Given the description of an element on the screen output the (x, y) to click on. 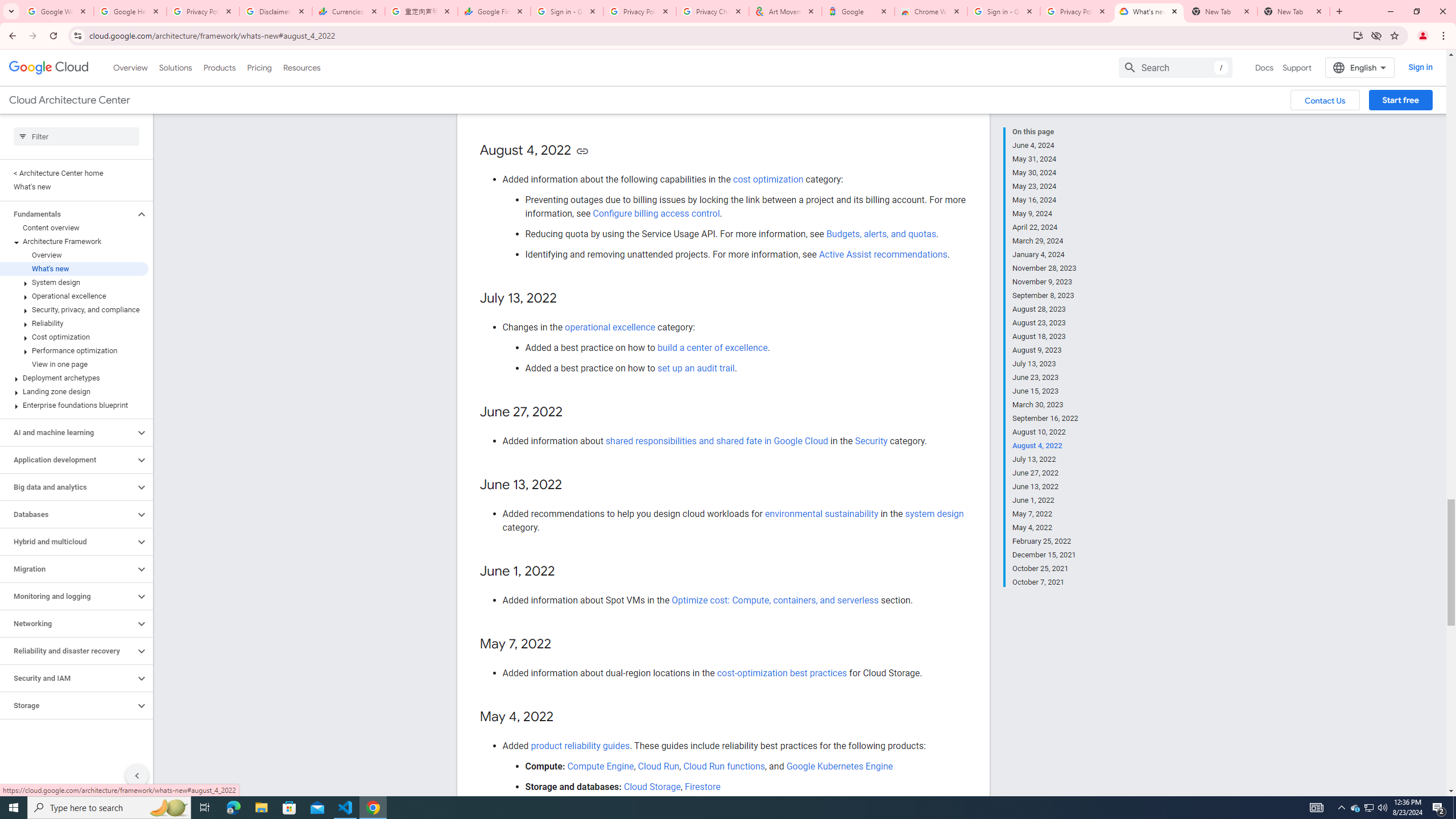
Operational excellence (74, 296)
< Architecture Center home (74, 173)
AI and machine learning (67, 432)
Google Kubernetes Engine (839, 765)
September 8, 2023 (1044, 295)
Active Assist recommendations (882, 253)
Content overview (74, 228)
Security, privacy, and compliance (74, 309)
Databases (67, 514)
